Given the description of an element on the screen output the (x, y) to click on. 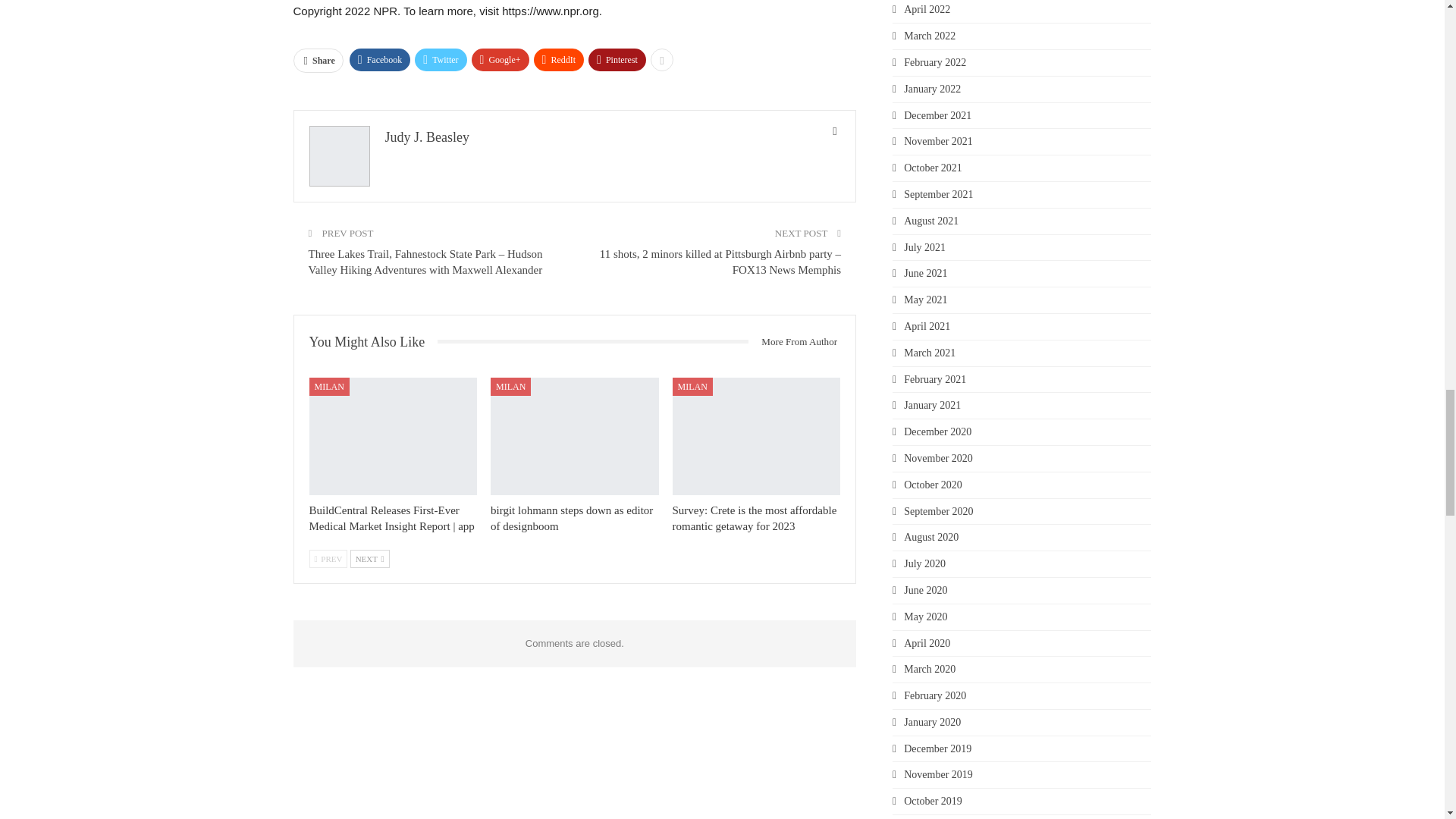
birgit lohmann steps down as editor of designboom (574, 436)
birgit lohmann steps down as editor of designboom (571, 518)
ReddIt (559, 59)
You Might Also Like (373, 341)
Judy J. Beasley (427, 136)
Twitter (439, 59)
Facebook (379, 59)
Next (370, 558)
Previous (327, 558)
